Given the description of an element on the screen output the (x, y) to click on. 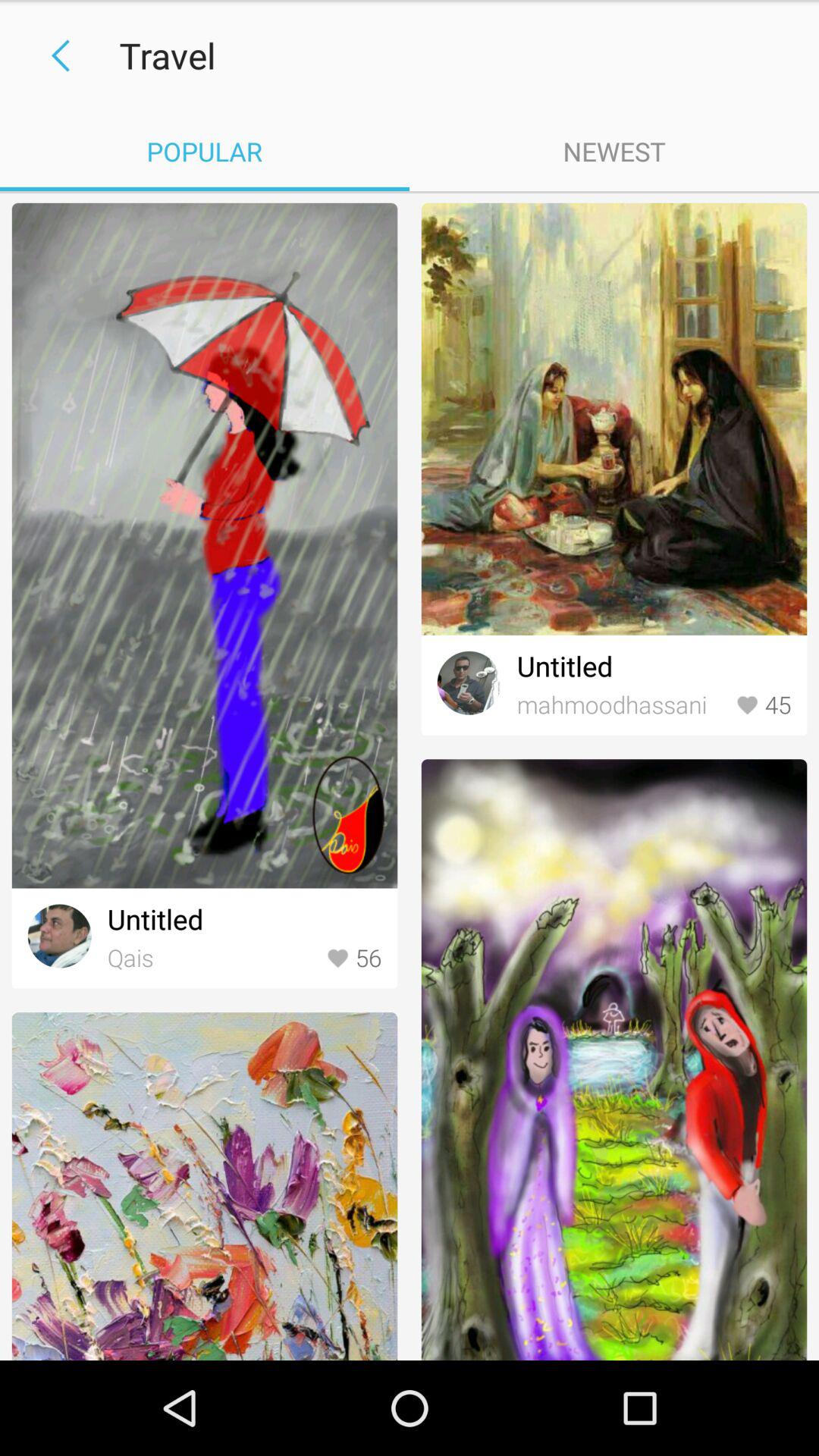
choose the icon next to 45 icon (622, 705)
